Given the description of an element on the screen output the (x, y) to click on. 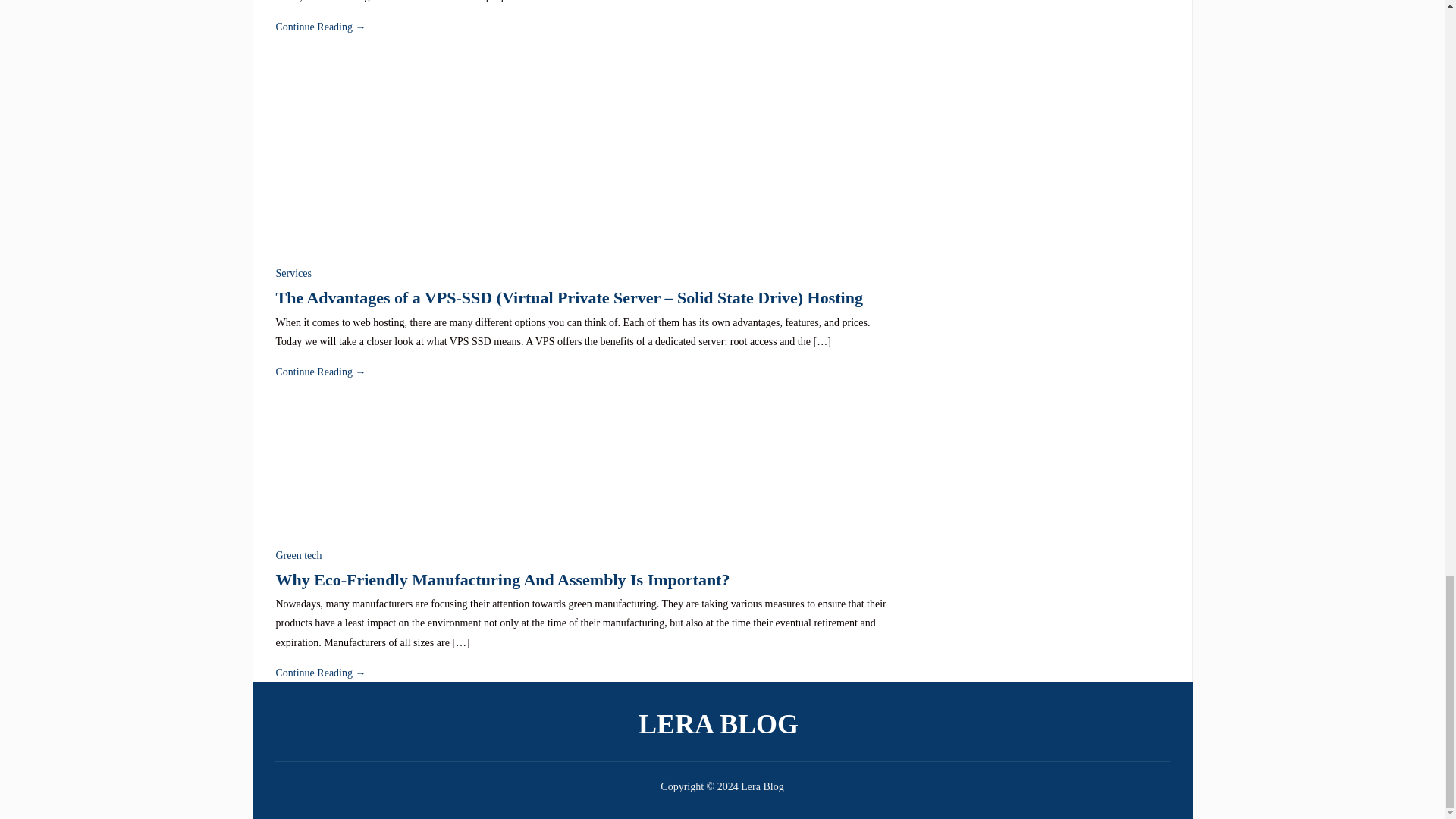
Permalink to History of Samsung and Manufacture Fields (321, 26)
Why Eco-Friendly Manufacturing And Assembly Is Important? (357, 462)
